Given the description of an element on the screen output the (x, y) to click on. 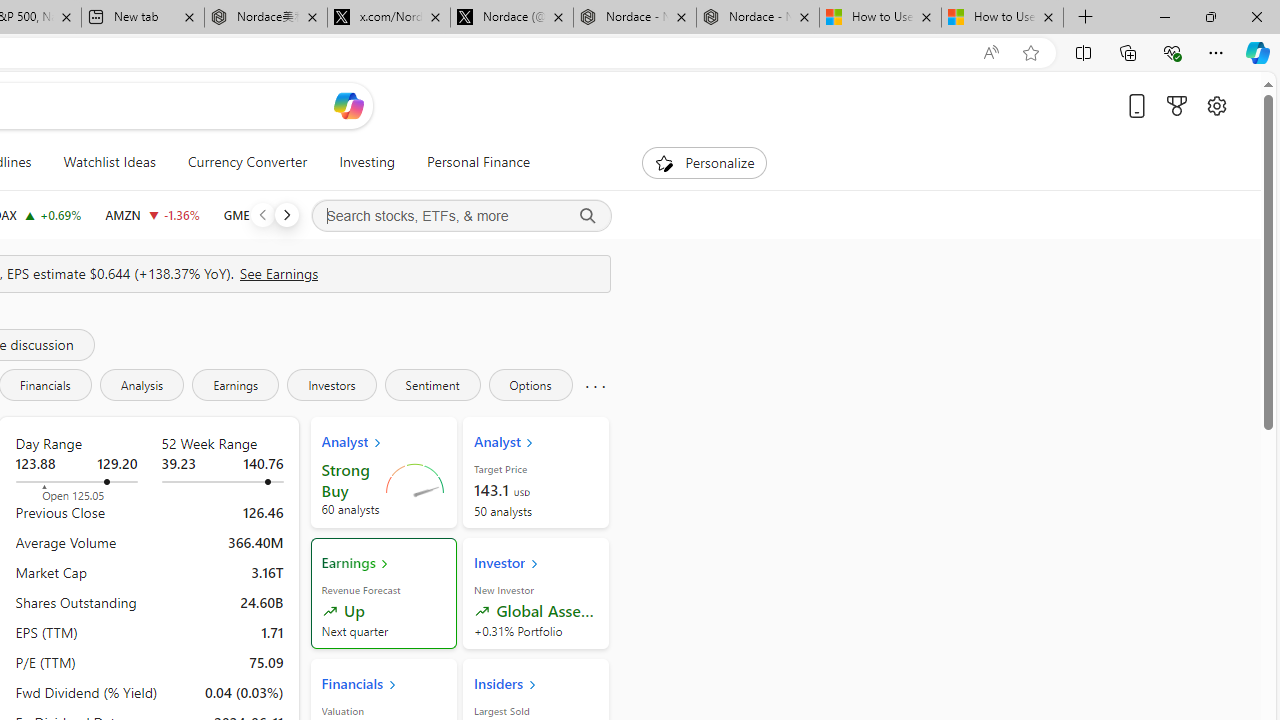
Personalize (703, 162)
Next (286, 214)
Class: card_head_icon_lightMode-DS-EntryPoint1-1 (531, 684)
GME GAMESTOP CORP. decrease 20.74 -0.62 -2.90% (266, 214)
Watchlist Ideas (109, 162)
Earnings (236, 384)
Watchlist Ideas (109, 162)
